Given the description of an element on the screen output the (x, y) to click on. 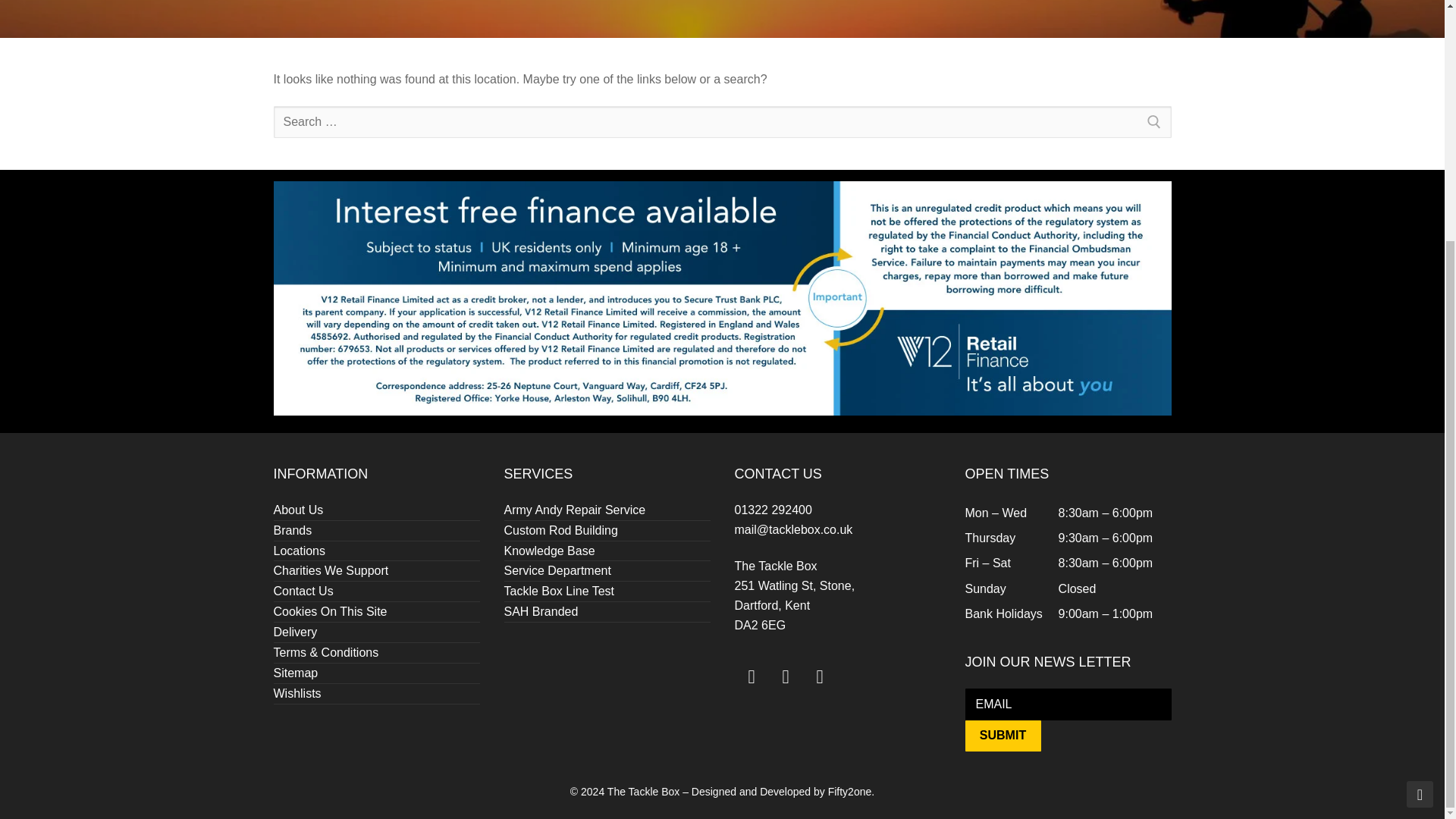
Search for: (721, 122)
Facebook (785, 676)
Submit (1002, 736)
Instagram (818, 676)
YouTube (750, 676)
